Given the description of an element on the screen output the (x, y) to click on. 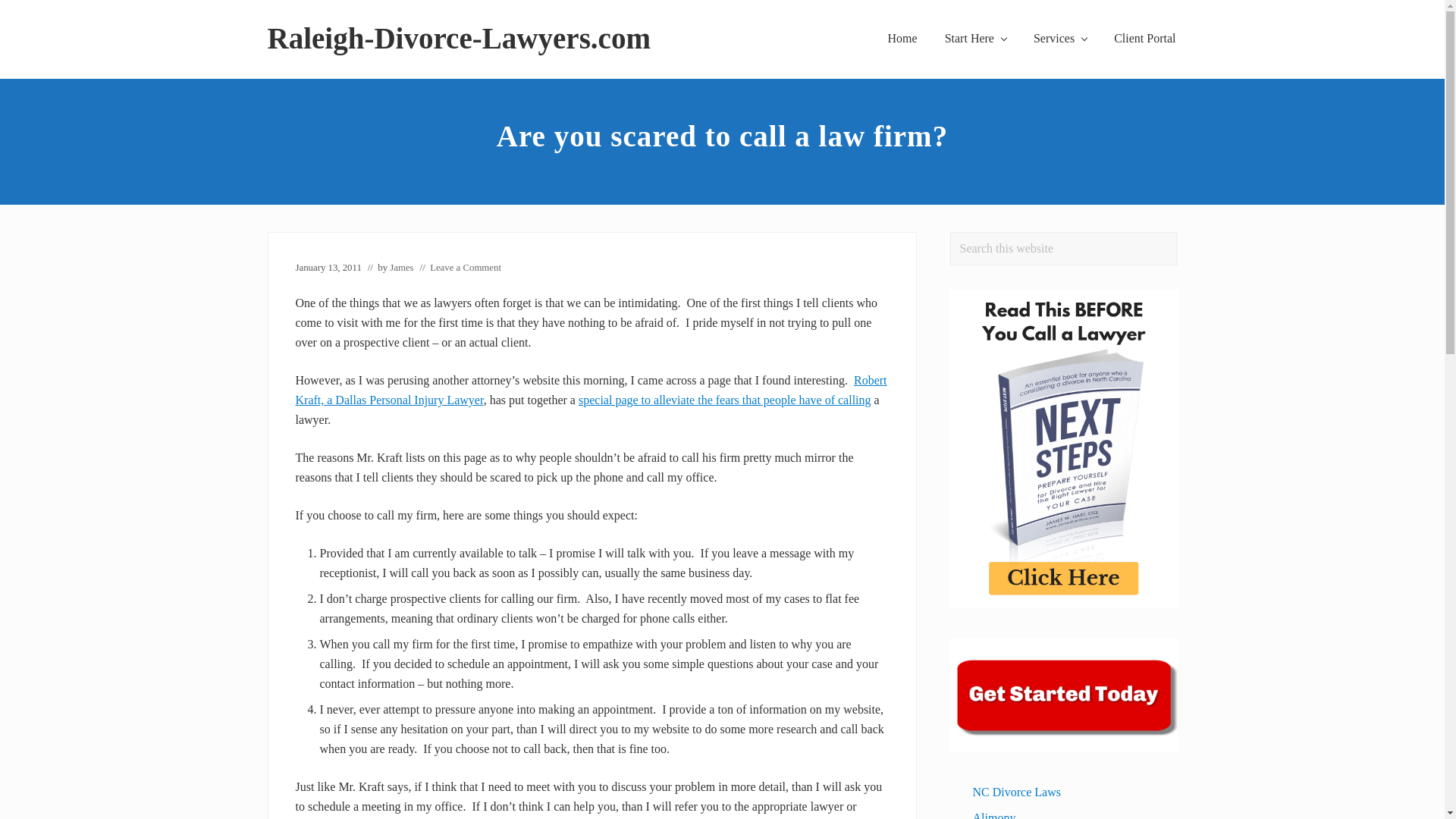
Home (903, 38)
Leave a Comment (464, 267)
Client Portal (1145, 38)
Raleigh-Divorce-Lawyers.com (457, 38)
Services (1060, 38)
Start Here (975, 38)
